Given the description of an element on the screen output the (x, y) to click on. 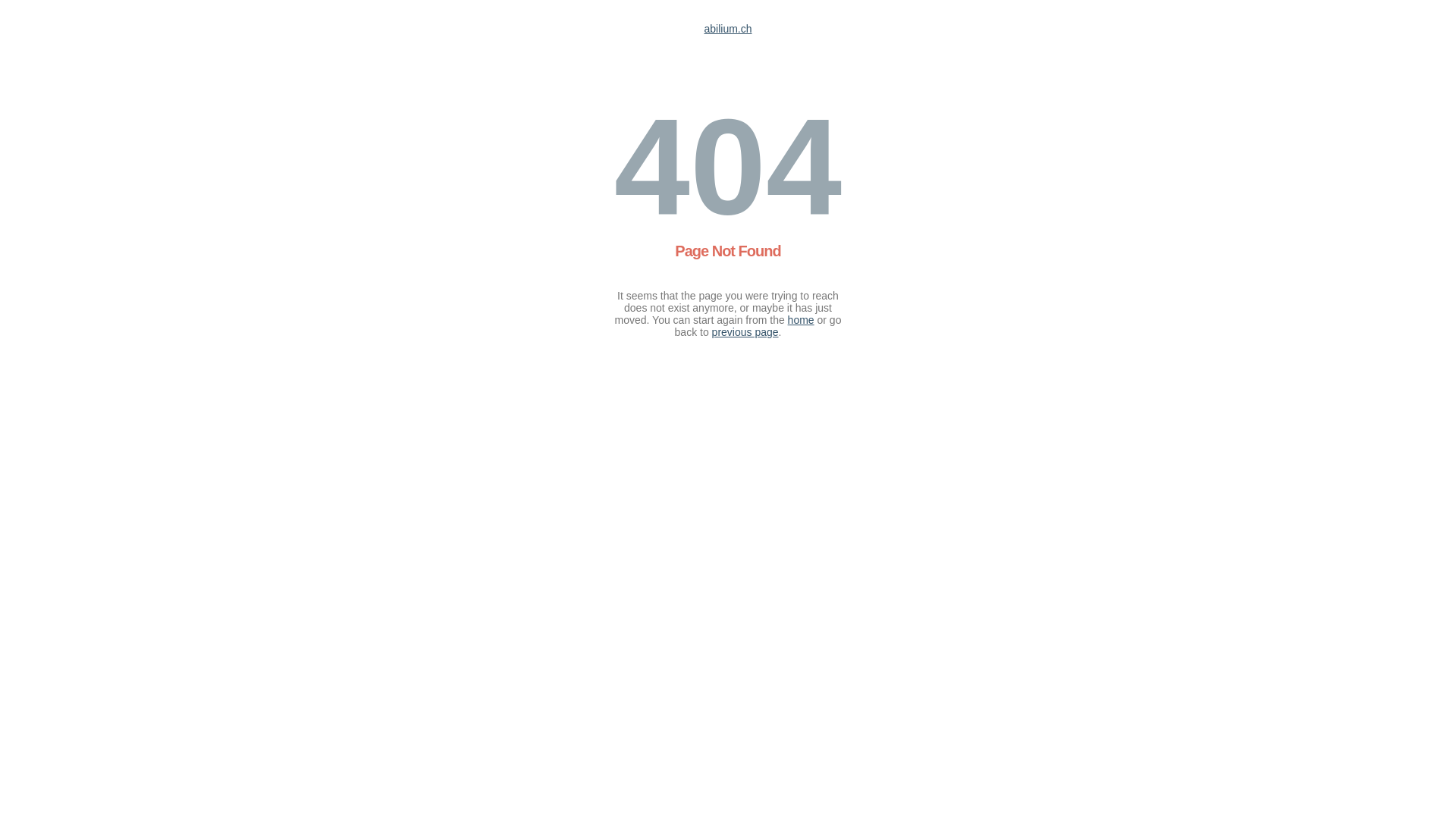
home Element type: text (800, 319)
abilium.ch Element type: text (727, 28)
previous page Element type: text (745, 332)
